Given the description of an element on the screen output the (x, y) to click on. 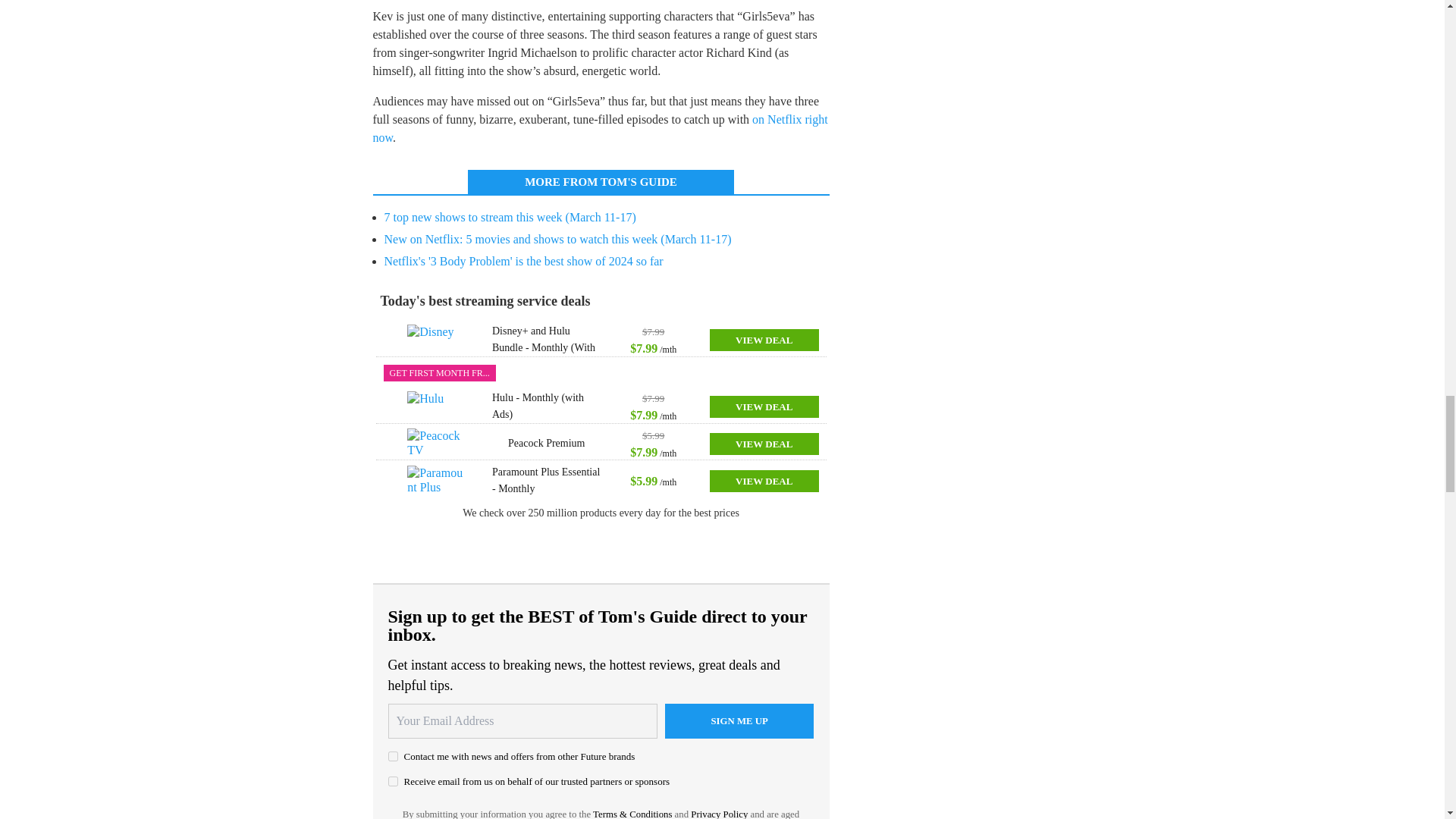
on (392, 756)
Disney (437, 339)
Peacock TV (437, 443)
Get first month free (440, 372)
Hulu (437, 406)
Paramount Plus (437, 481)
on (392, 781)
Sign me up (739, 720)
